Given the description of an element on the screen output the (x, y) to click on. 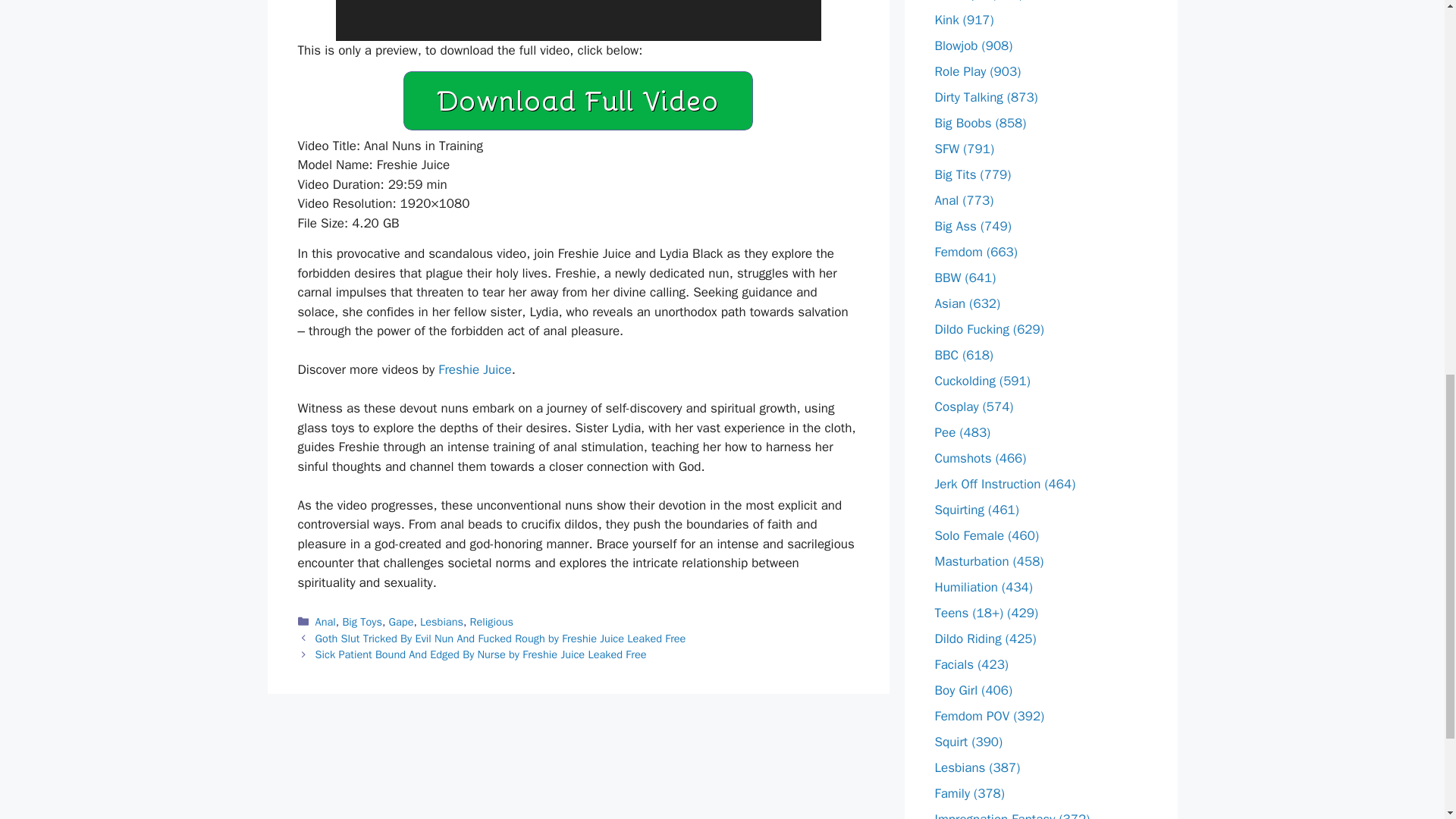
Gape (400, 621)
Big Toys (361, 621)
Freshie Juice (474, 369)
Religious (491, 621)
Anal (325, 621)
Lesbians (441, 621)
